Given the description of an element on the screen output the (x, y) to click on. 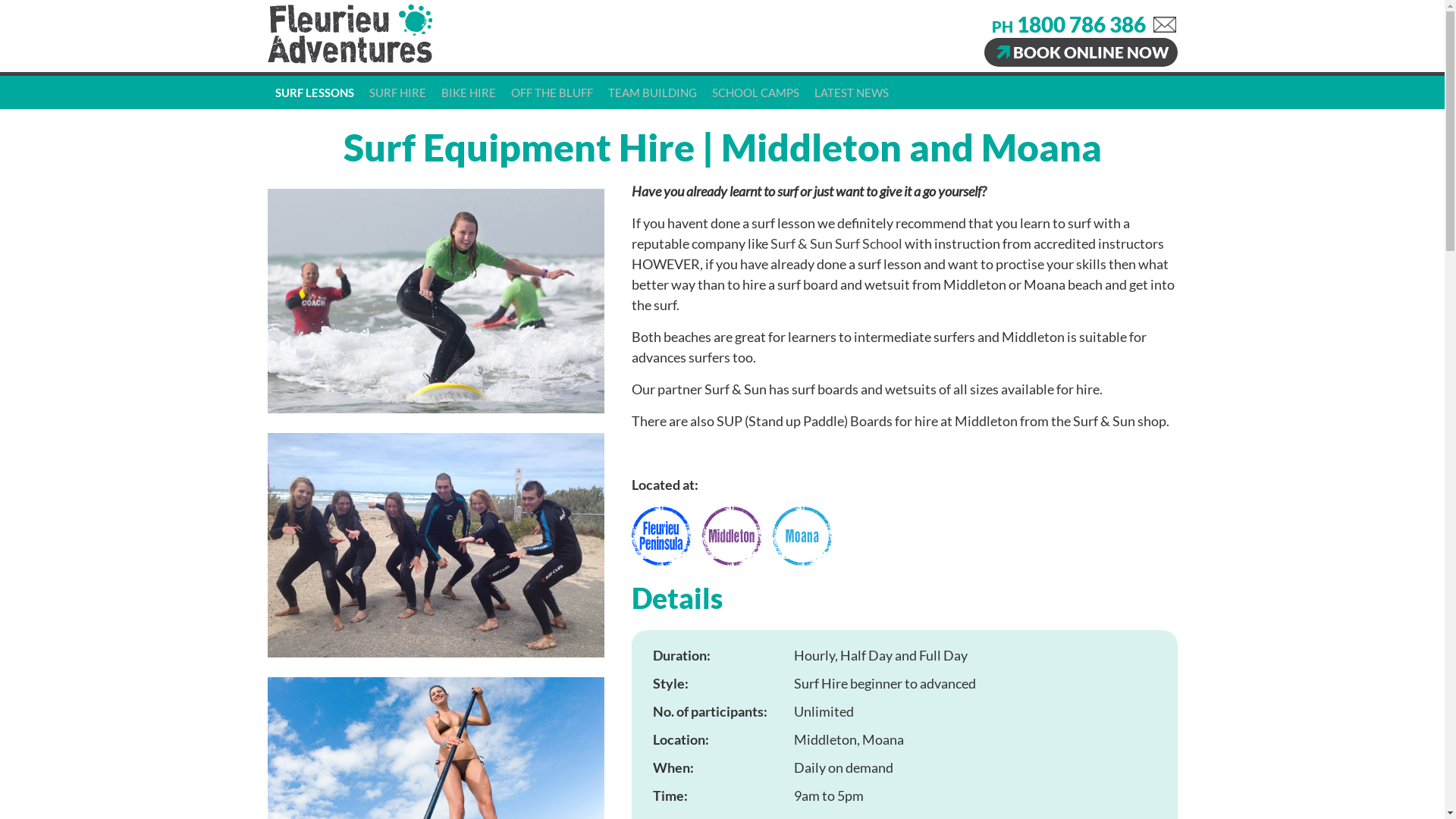
SCHOOL CAMPS Element type: text (754, 92)
Surf & Sun Surf School Element type: text (836, 243)
Email us Element type: hover (1163, 24)
BOOK ONLINE NOW Element type: text (1080, 51)
Fleurieu Adventures Element type: hover (348, 60)
LATEST NEWS Element type: text (851, 92)
OFF THE BLUFF Element type: text (551, 92)
SURF LESSONS Element type: text (313, 92)
TEAM BUILDING Element type: text (652, 92)
BIKE HIRE Element type: text (468, 92)
SURF HIRE Element type: text (396, 92)
1800 786 386 Element type: text (1080, 24)
